Given the description of an element on the screen output the (x, y) to click on. 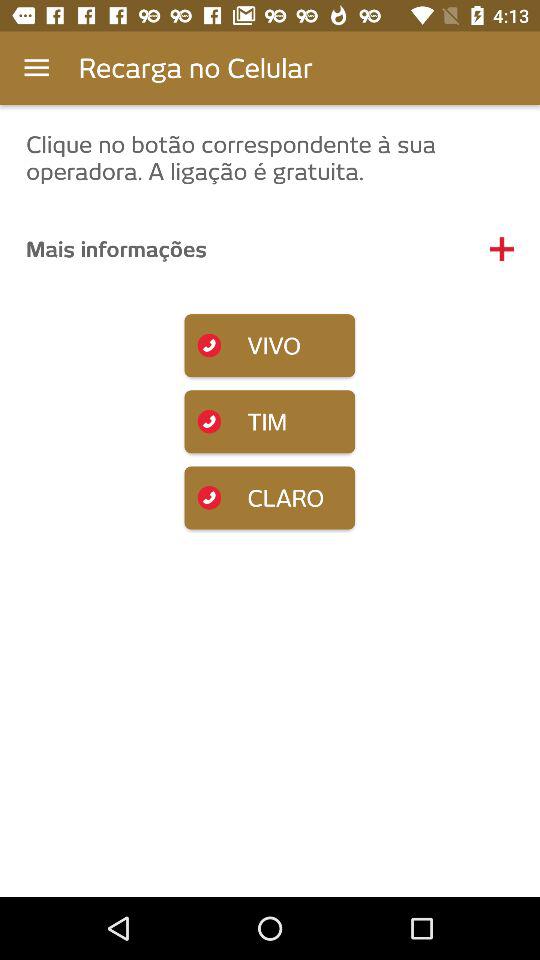
press the claro icon (269, 497)
